Given the description of an element on the screen output the (x, y) to click on. 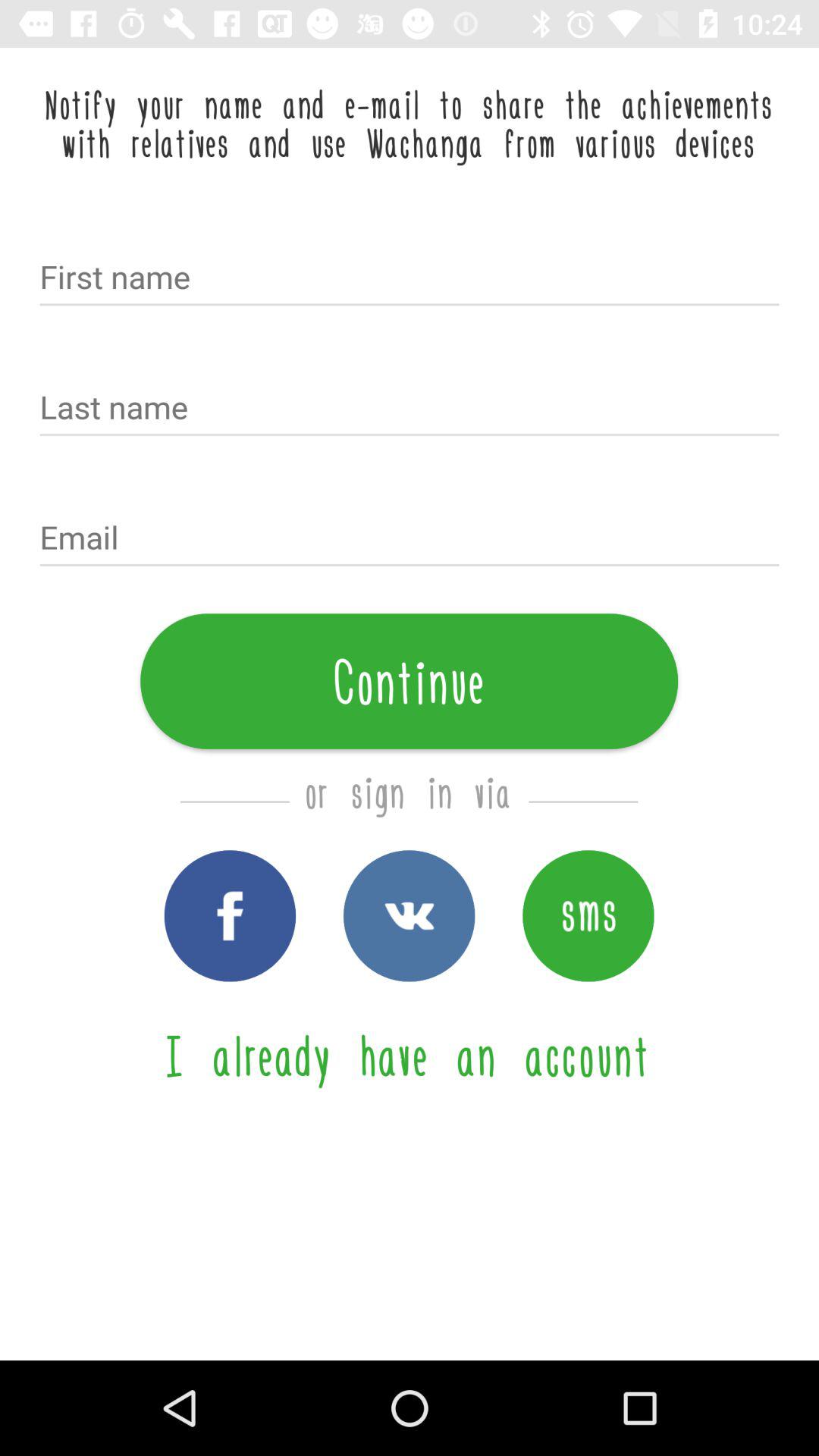
launch the continue item (408, 681)
